Given the description of an element on the screen output the (x, y) to click on. 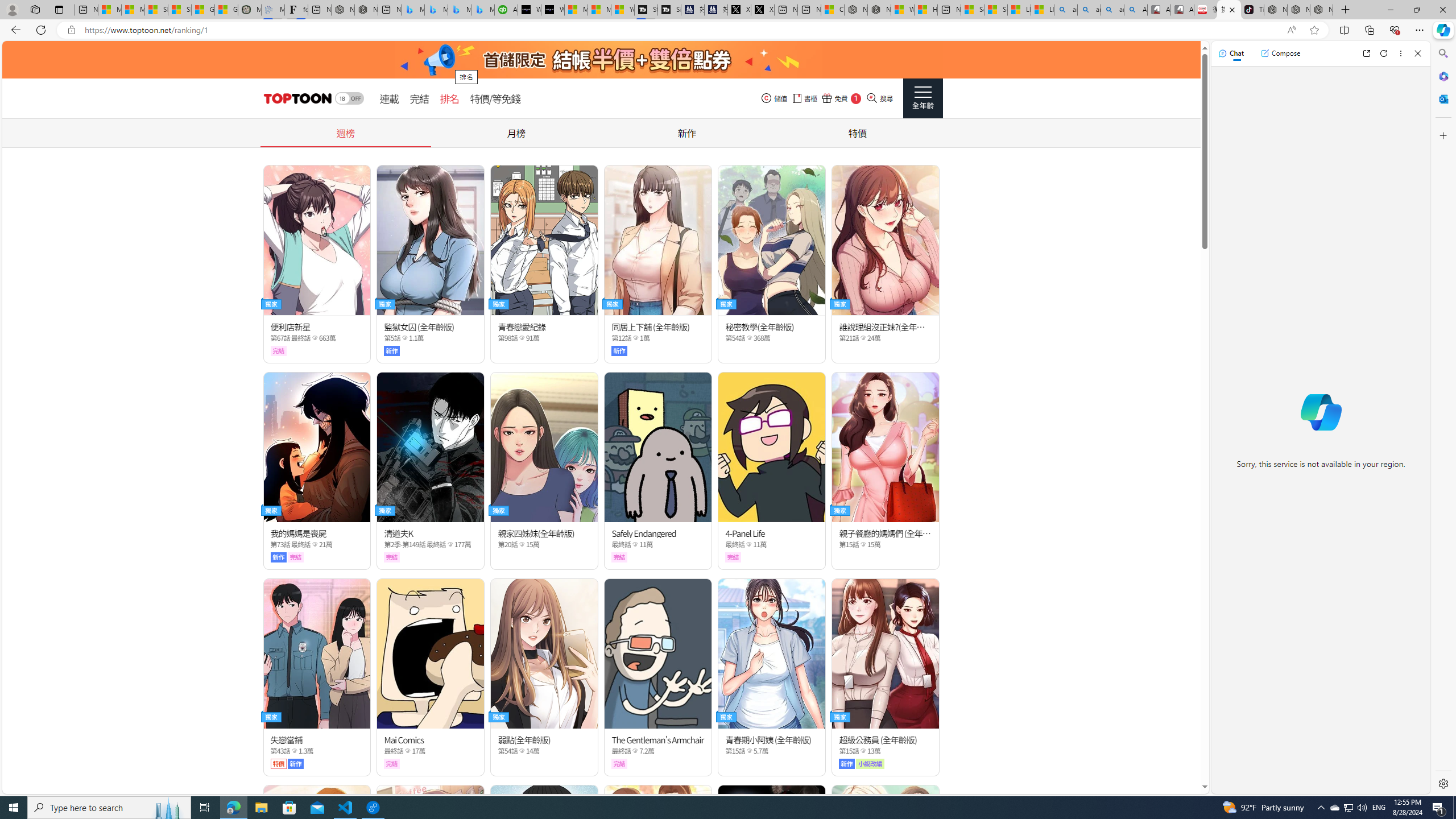
Manatee Mortality Statistics | FWC (249, 9)
Class: epicon_starpoint (863, 750)
